Given the description of an element on the screen output the (x, y) to click on. 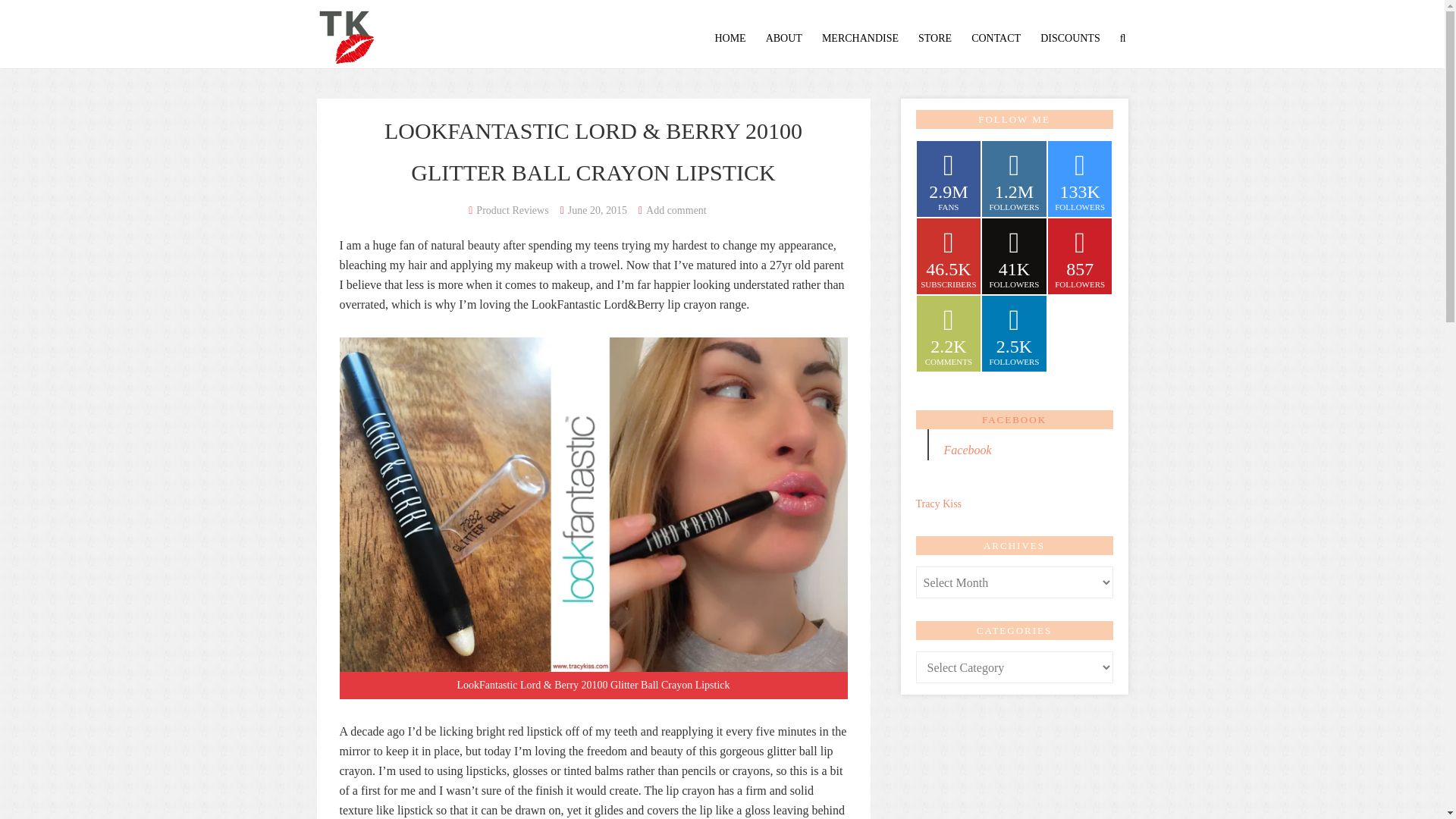
Product Reviews (512, 210)
MERCHANDISE (860, 38)
Add comment (676, 210)
LookFantastic (566, 304)
Tracy Kiss (346, 32)
